Given the description of an element on the screen output the (x, y) to click on. 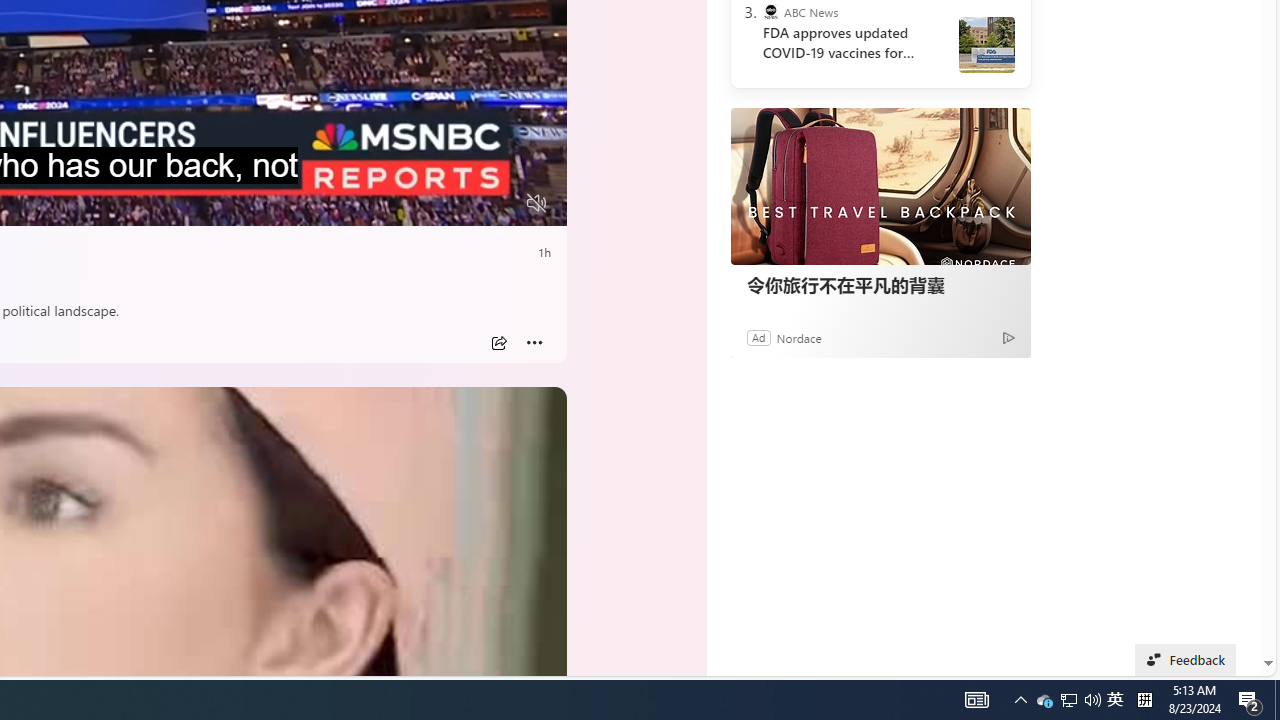
Unmute (535, 203)
Captions (457, 203)
